Given the description of an element on the screen output the (x, y) to click on. 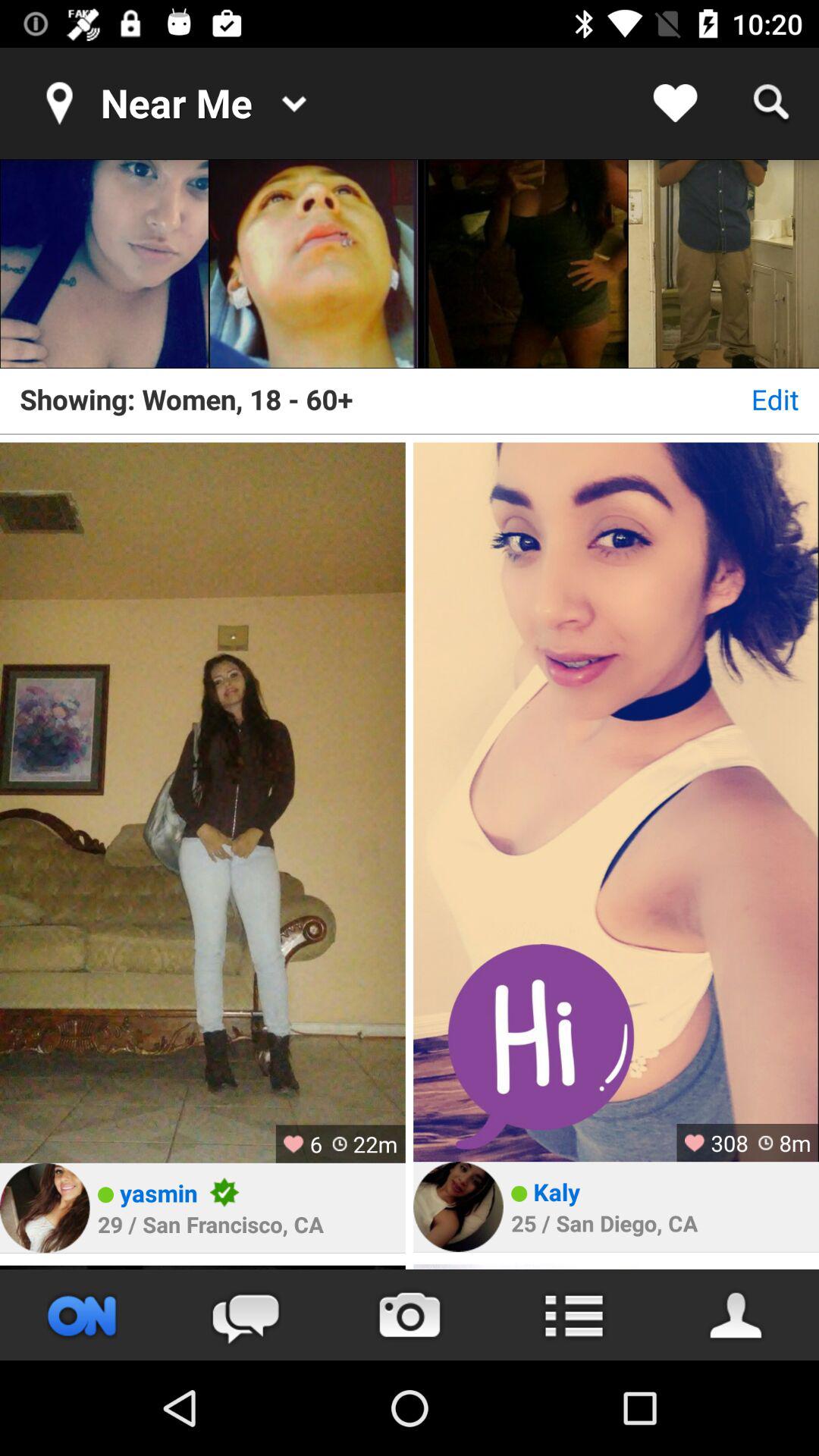
open profile (458, 1206)
